Given the description of an element on the screen output the (x, y) to click on. 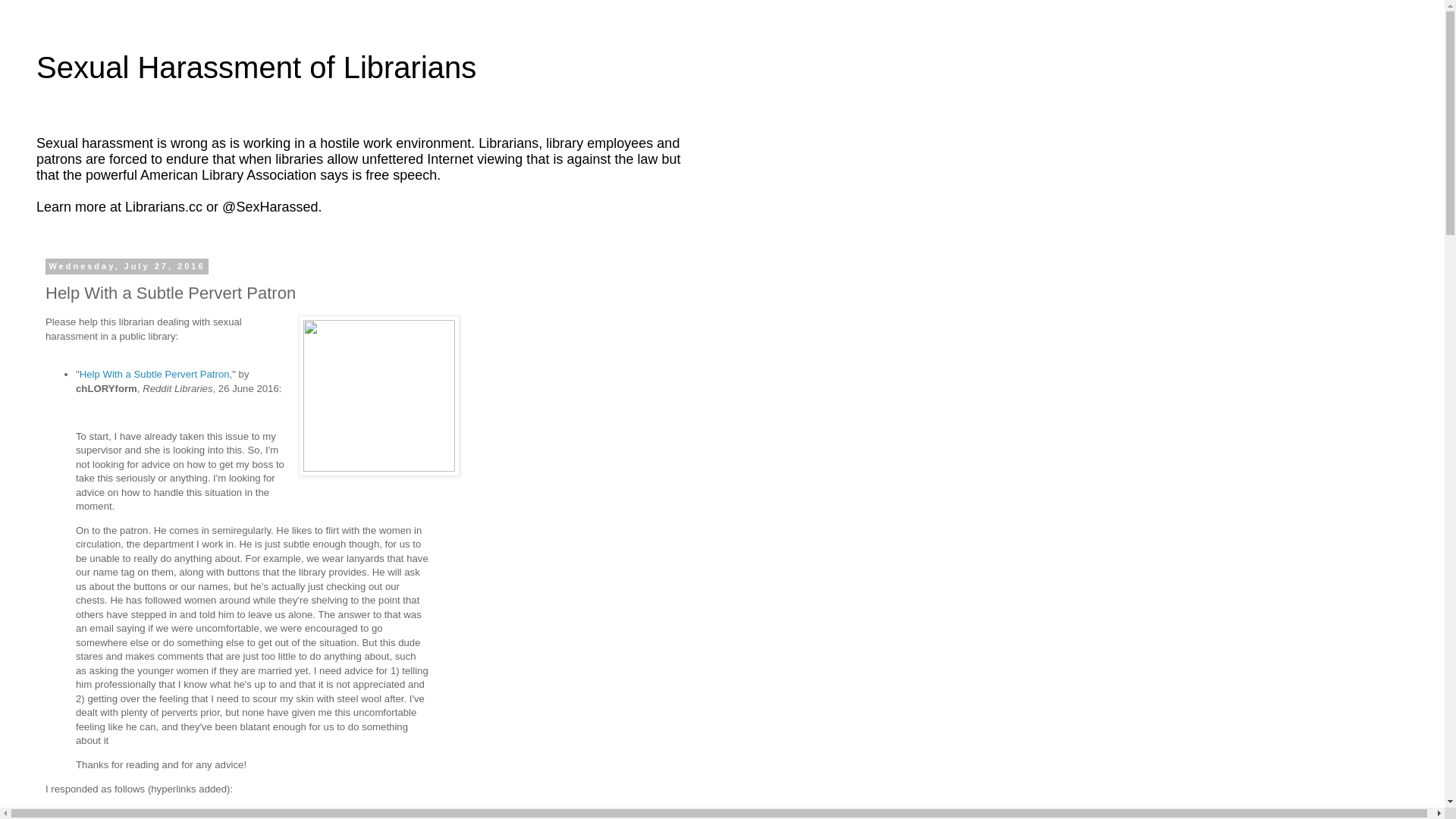
Sexual Harassment of Librarians Element type: text (256, 67)
Help With a Subtle Pervert Patron Element type: text (154, 373)
